Given the description of an element on the screen output the (x, y) to click on. 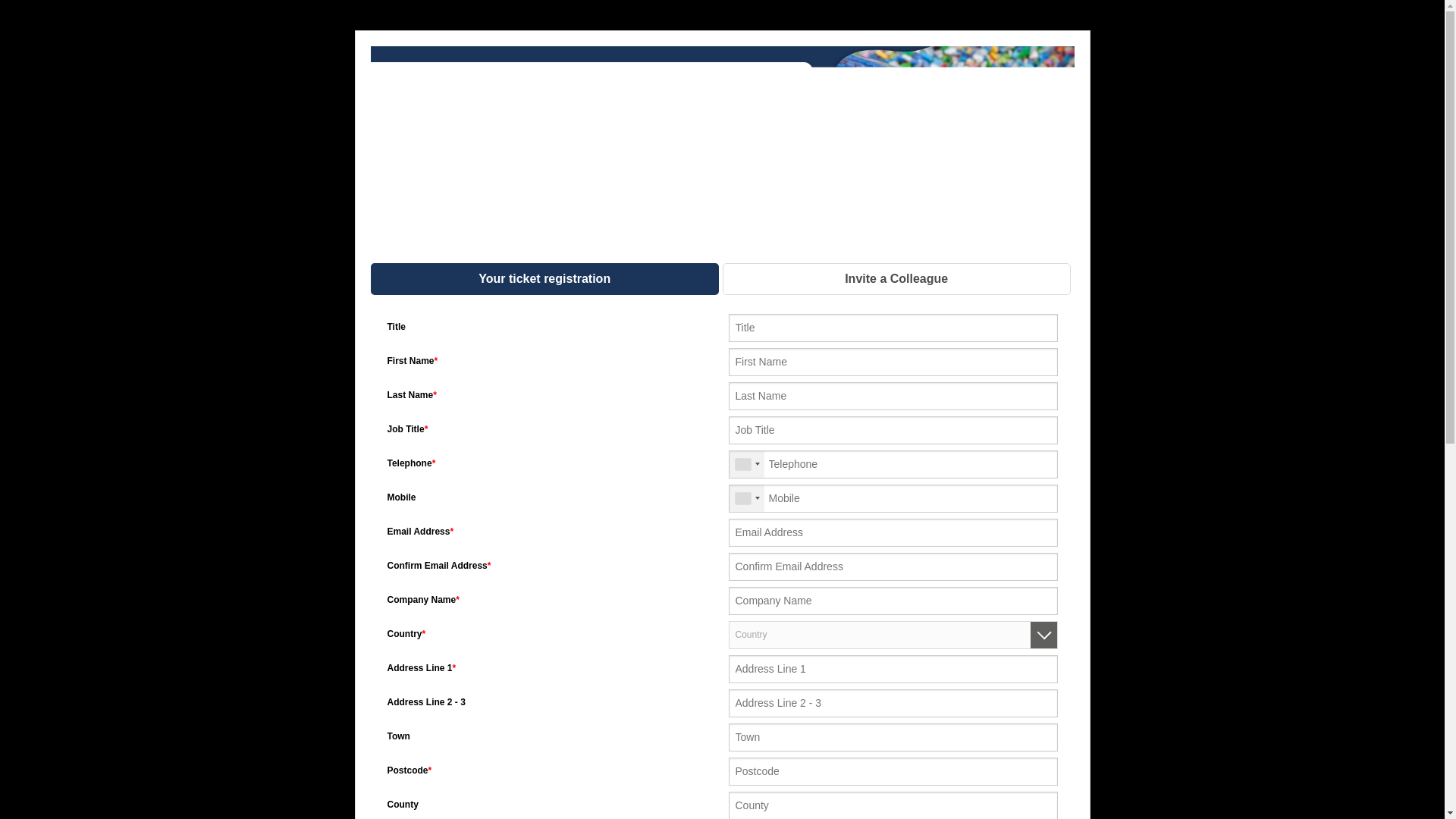
Your ticket registration (543, 278)
Invite a Colleague (896, 278)
